Given the description of an element on the screen output the (x, y) to click on. 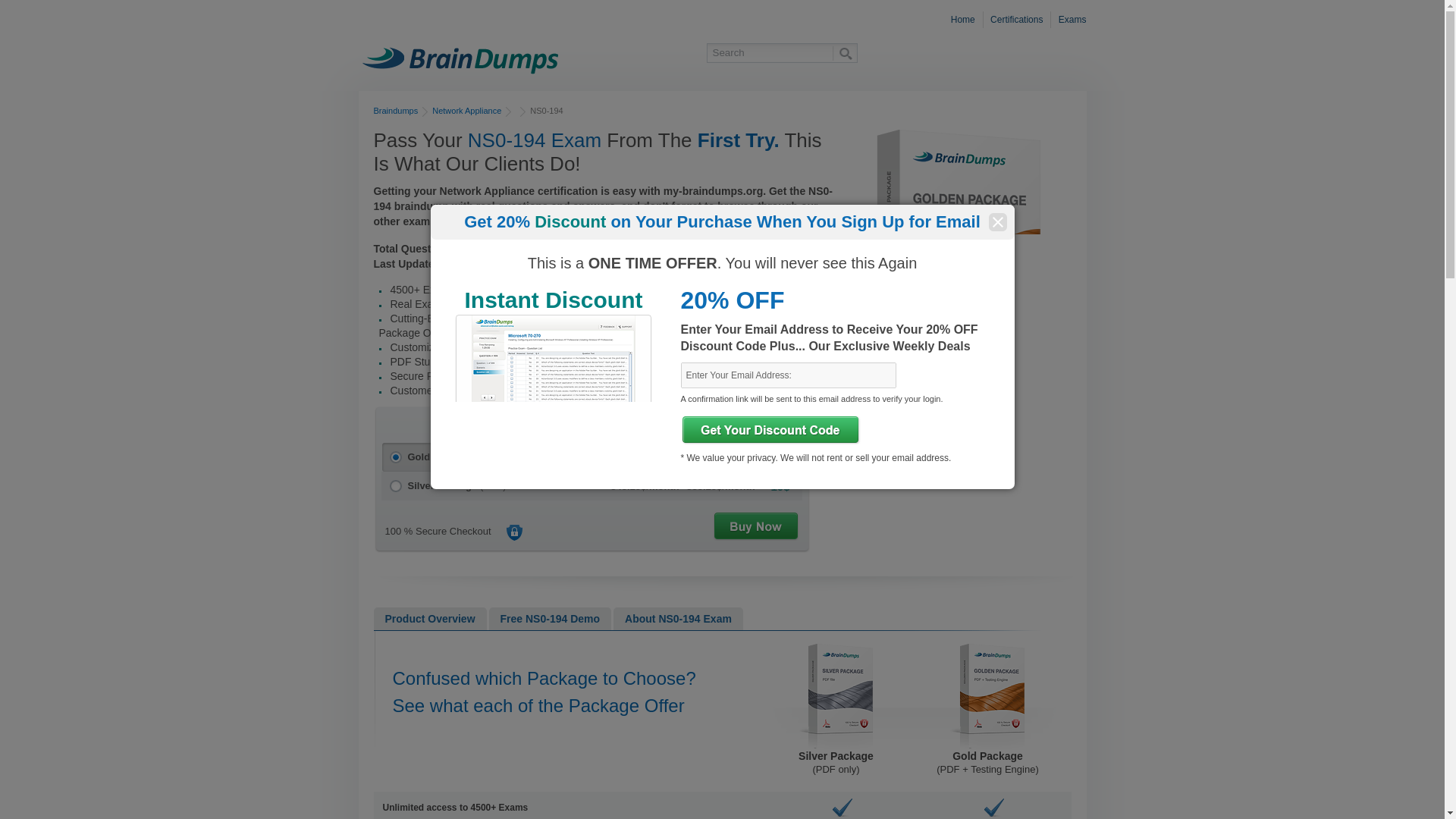
Network Appliance (466, 110)
Product Overview (429, 618)
About NS0-194 Exam (677, 618)
Buy Now (755, 525)
Home (965, 19)
Enter Your Email Address: (788, 375)
Braindumps (394, 110)
Search (844, 53)
Get Your Discount Code (770, 429)
my-braindumps.org (460, 58)
